Given the description of an element on the screen output the (x, y) to click on. 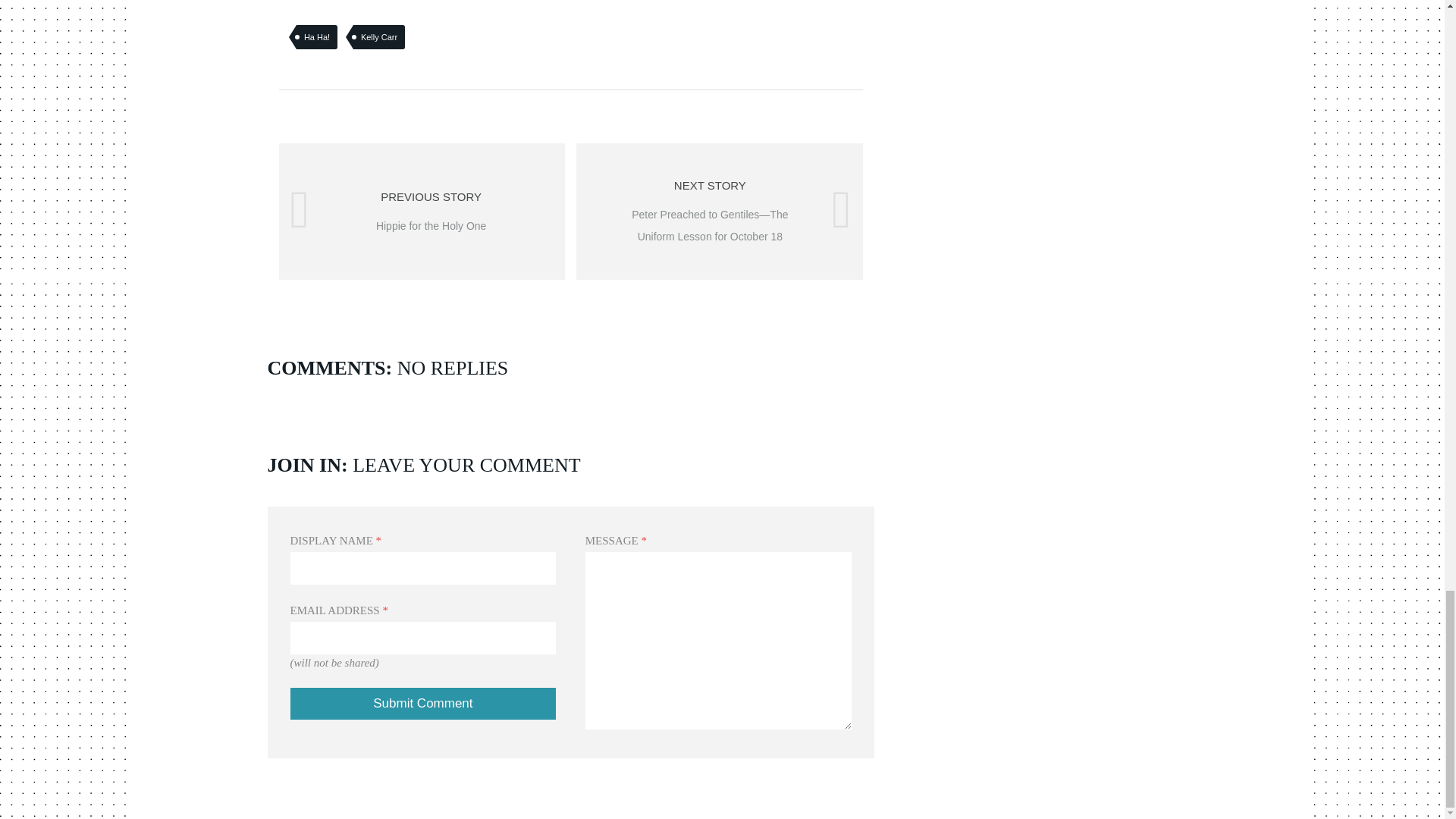
Kelly Carr (378, 37)
Submit Comment (421, 211)
Submit Comment (422, 703)
Ha Ha! (422, 703)
